Given the description of an element on the screen output the (x, y) to click on. 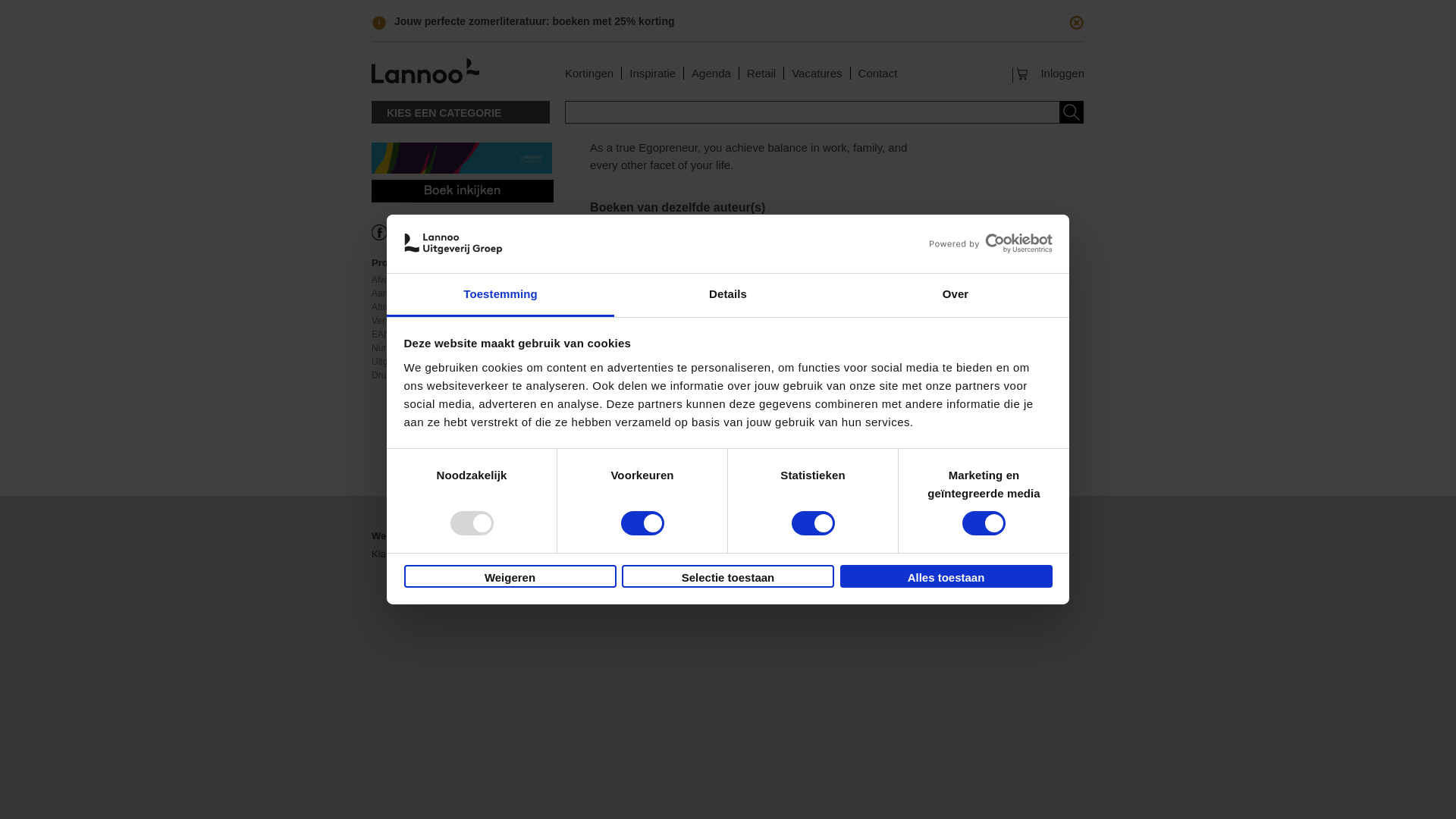
Details (727, 34)
Over (954, 34)
Toestemming (500, 34)
